Given the description of an element on the screen output the (x, y) to click on. 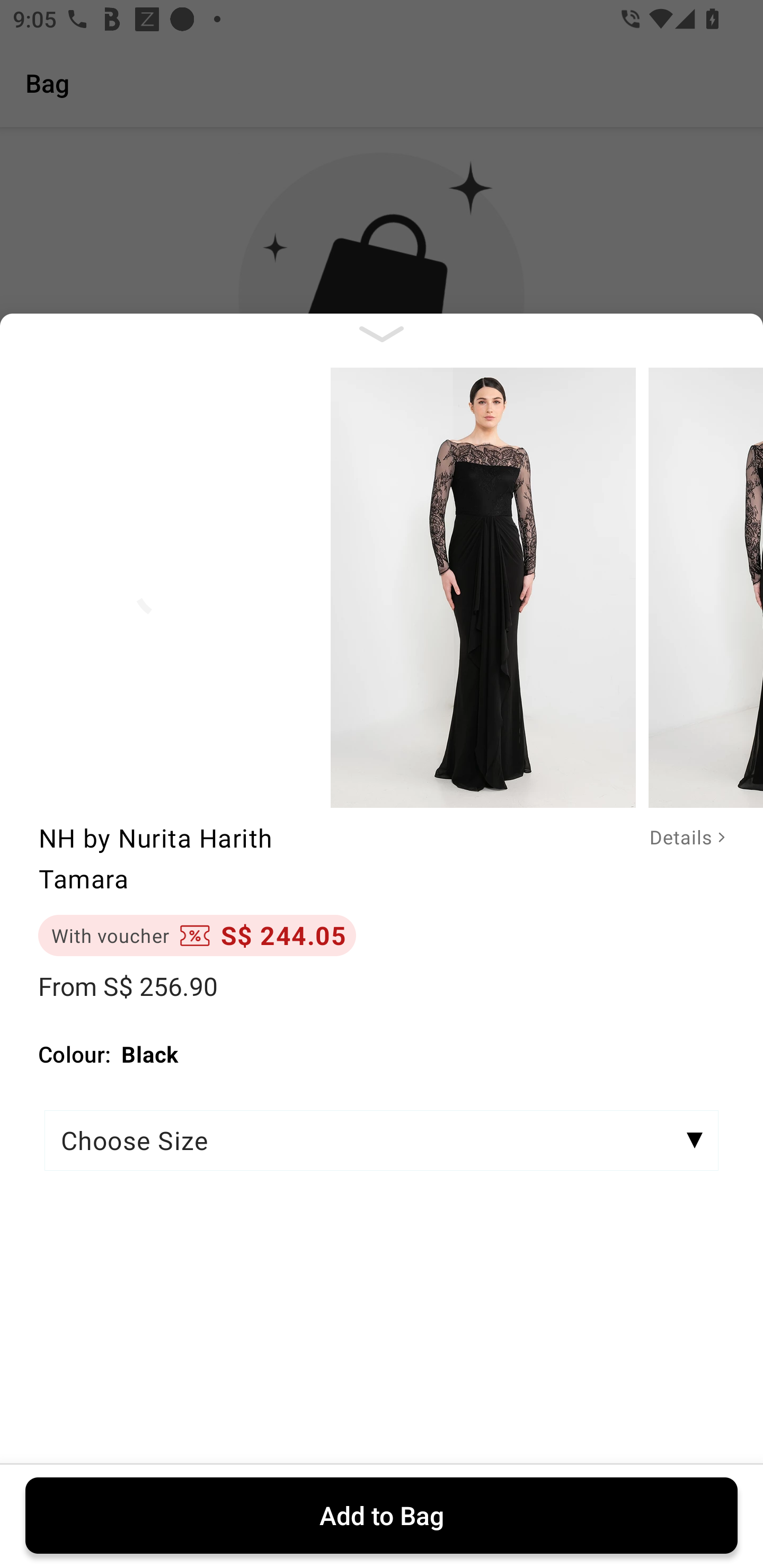
Details (673, 838)
Choose Size (381, 1140)
Add to Bag (381, 1515)
